Given the description of an element on the screen output the (x, y) to click on. 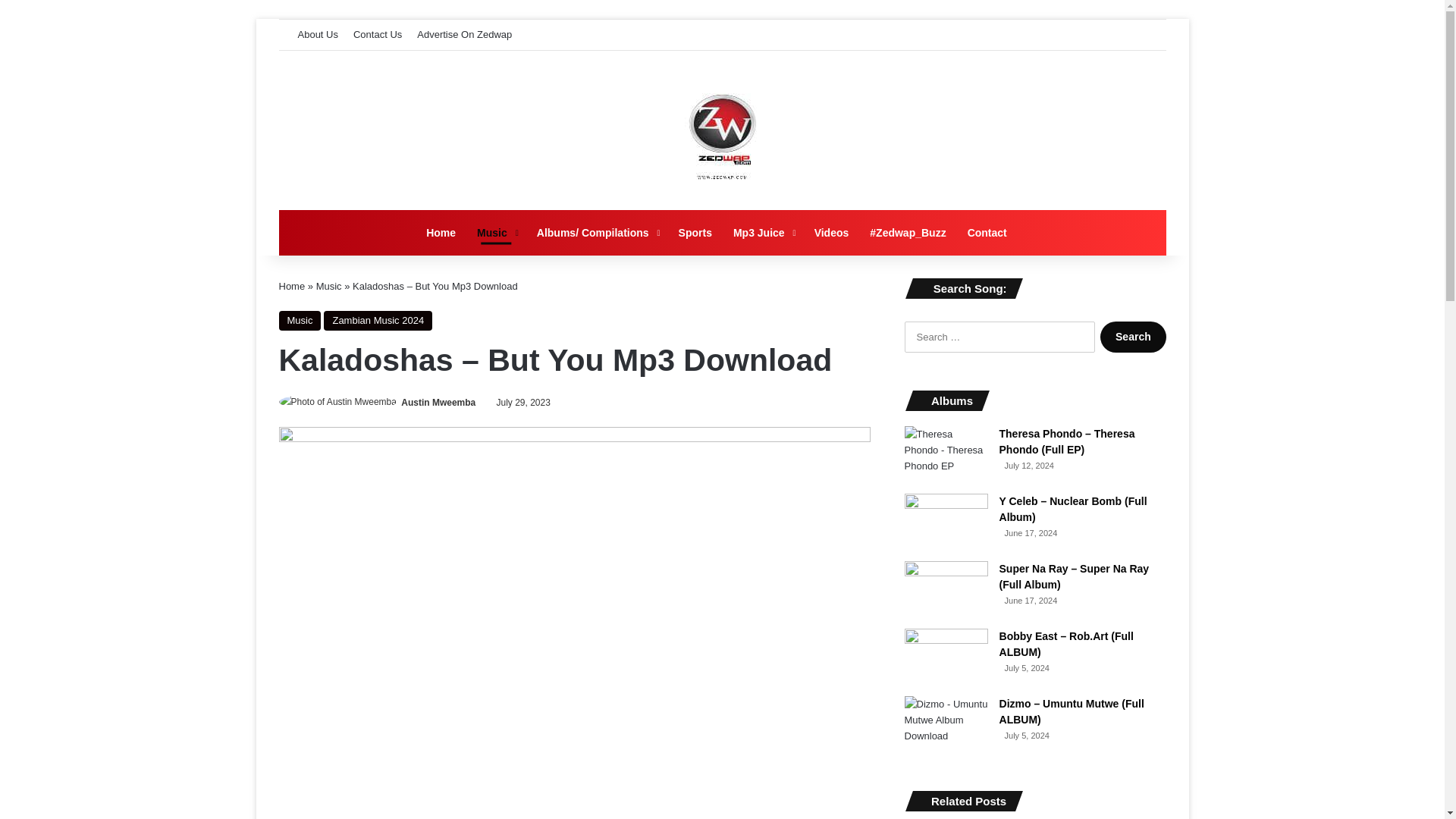
Advertise On Zedwap (464, 34)
Austin Mweemba (438, 402)
Music (495, 232)
Sports (695, 232)
About Us (317, 34)
Mp3 Juice (762, 232)
Home (292, 285)
Music (328, 285)
Search (1133, 336)
Zedwap.com (721, 130)
Contact Us (377, 34)
Austin Mweemba (438, 402)
Contact (986, 232)
Videos (831, 232)
Home (439, 232)
